Given the description of an element on the screen output the (x, y) to click on. 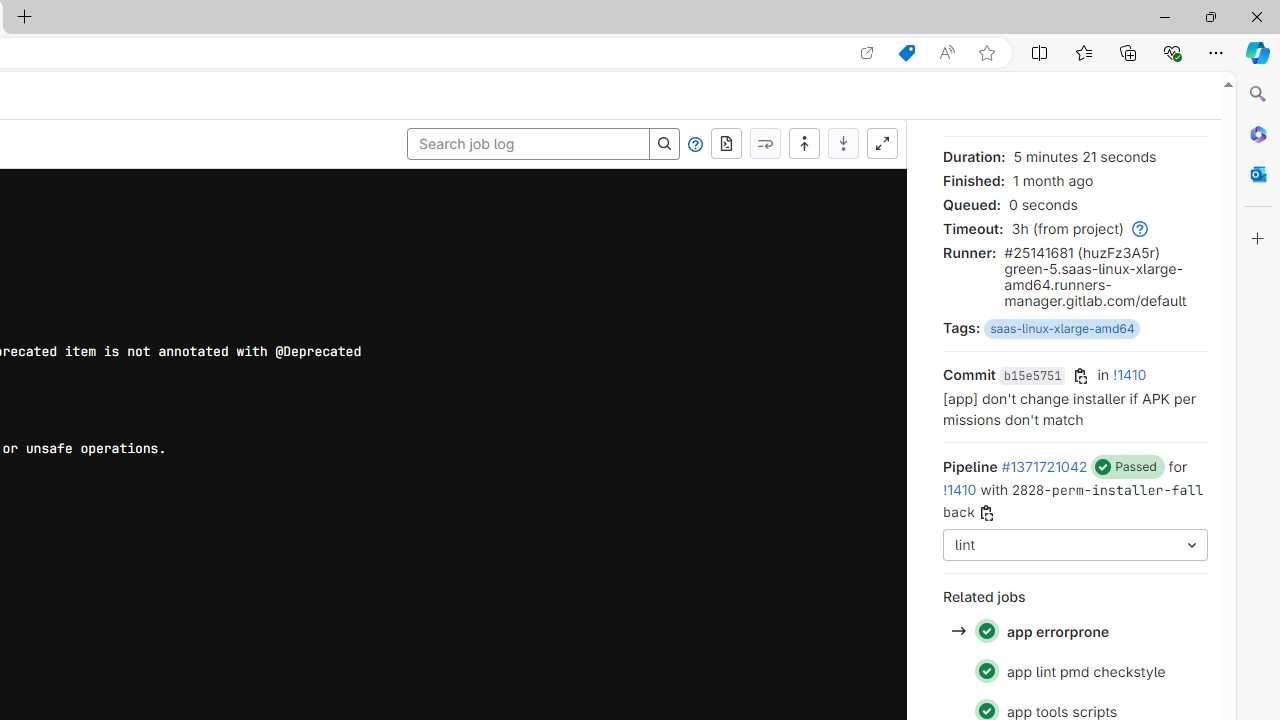
lint (1075, 545)
Status: Passed app errorprone (1073, 631)
!1410 (959, 489)
Copy commit SHA (1081, 376)
#1371721042 (1044, 466)
